Given the description of an element on the screen output the (x, y) to click on. 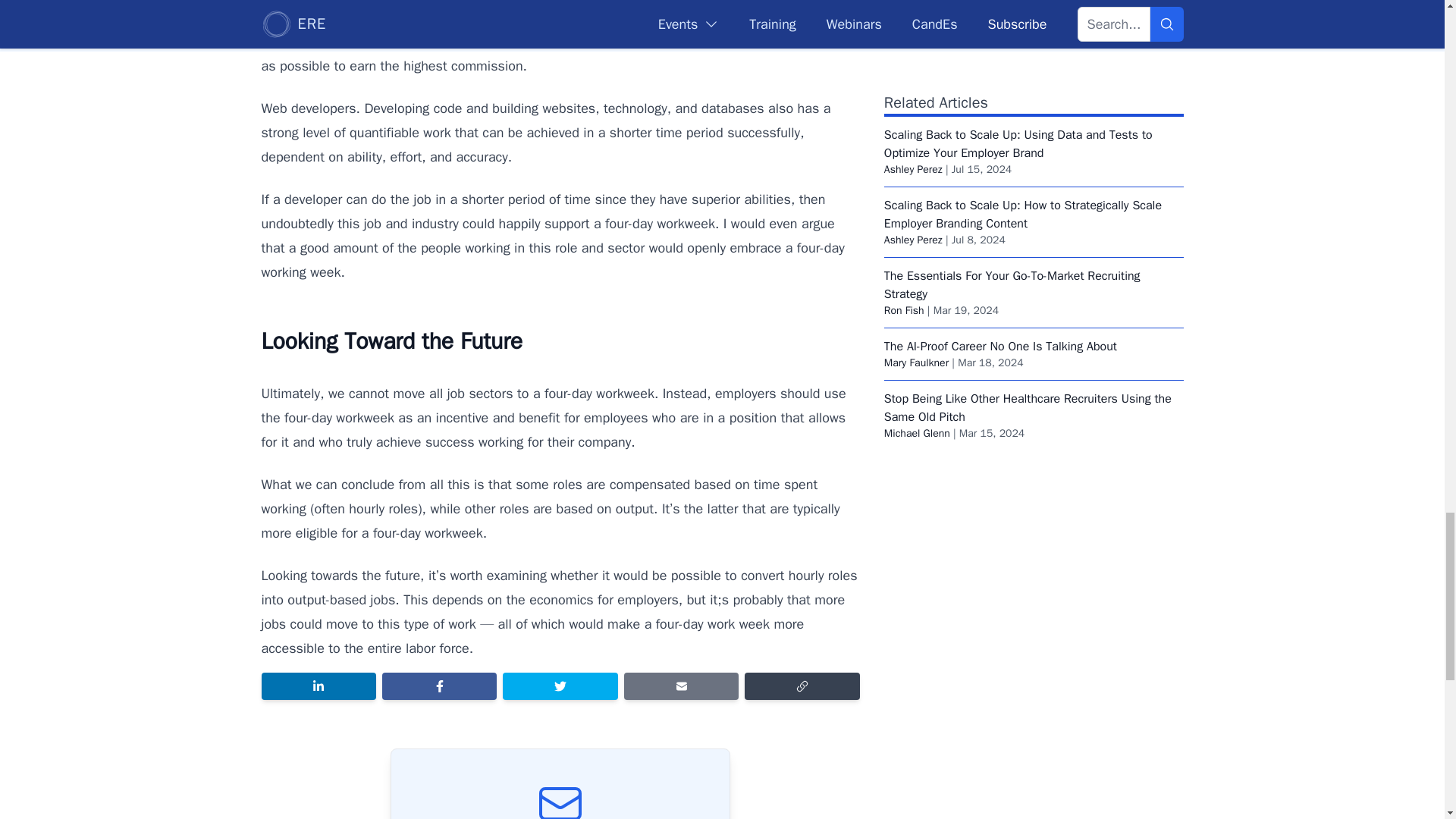
Michael Glenn (916, 432)
Ashley Perez (912, 169)
The Essentials For Your Go-To-Market Recruiting Strategy (1011, 285)
Ashley Perez (912, 239)
The AI-Proof Career No One Is Talking About (999, 346)
Ron Fish (903, 309)
Mary Faulkner (916, 362)
